Given the description of an element on the screen output the (x, y) to click on. 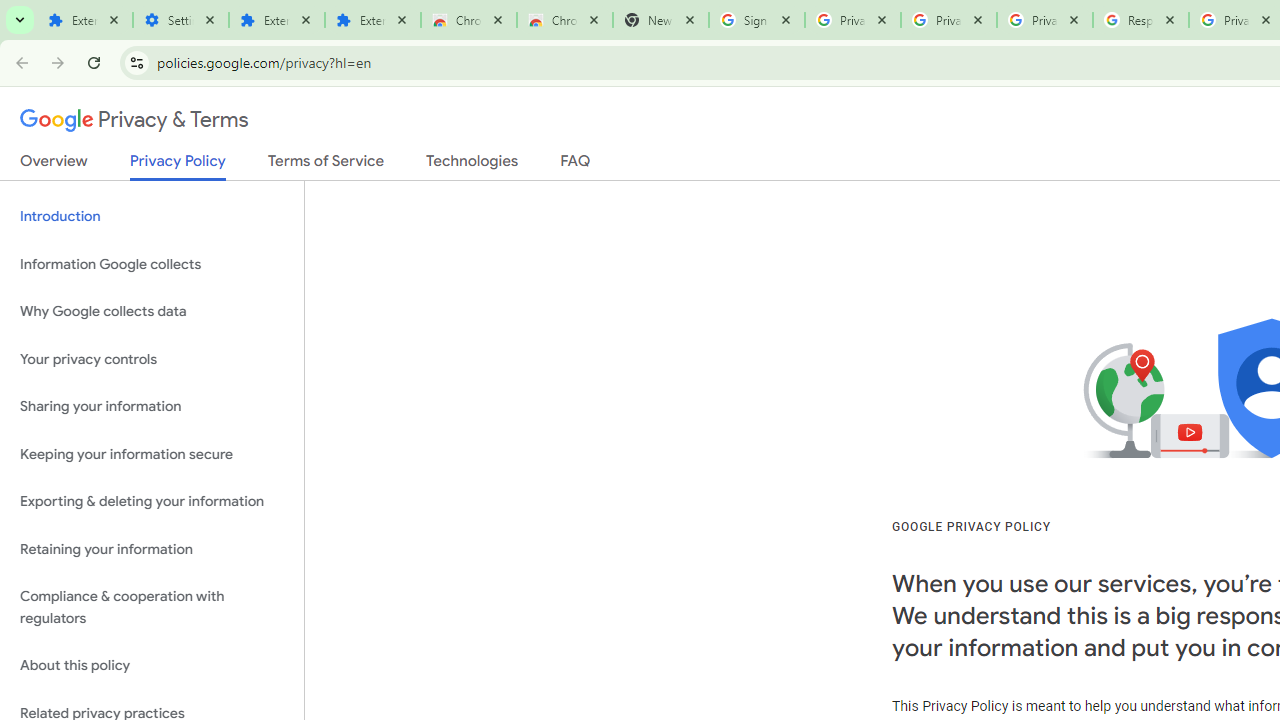
Extensions (373, 20)
New Tab (661, 20)
Extensions (85, 20)
Extensions (277, 20)
